Given the description of an element on the screen output the (x, y) to click on. 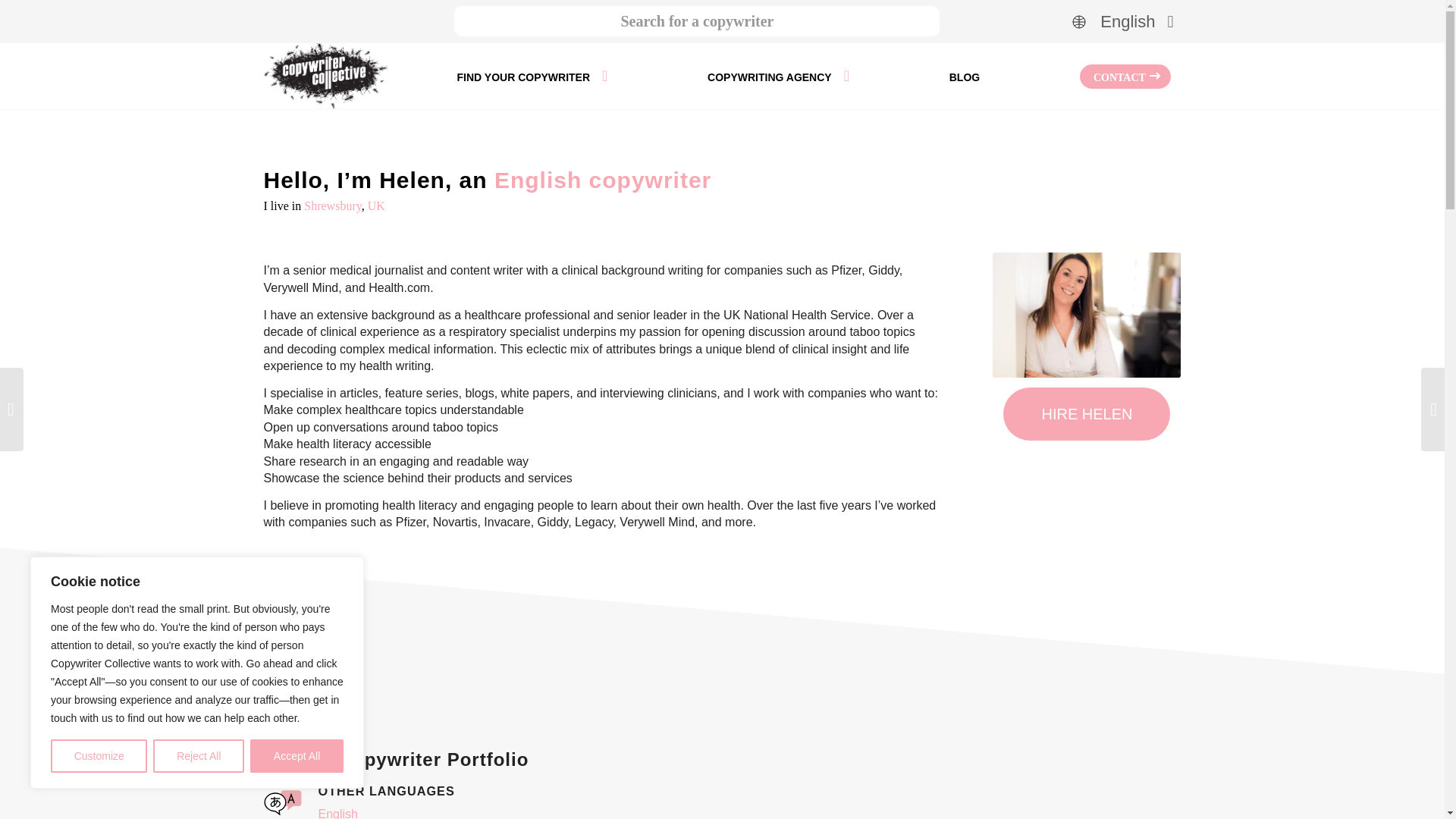
Reject All (198, 756)
FIND YOUR COPYWRITER (531, 75)
Healthcare (293, 623)
hellen-english-copywriter-uk-copywriter-collective (1086, 314)
HIRE HELEN (1086, 414)
English (1121, 21)
Accept All (296, 756)
English (338, 813)
Healthcare (293, 623)
CONTACT (1125, 75)
Customize (98, 756)
COPYWRITING AGENCY (778, 75)
English copywriter (603, 179)
English (1121, 21)
BLOG (964, 75)
